Given the description of an element on the screen output the (x, y) to click on. 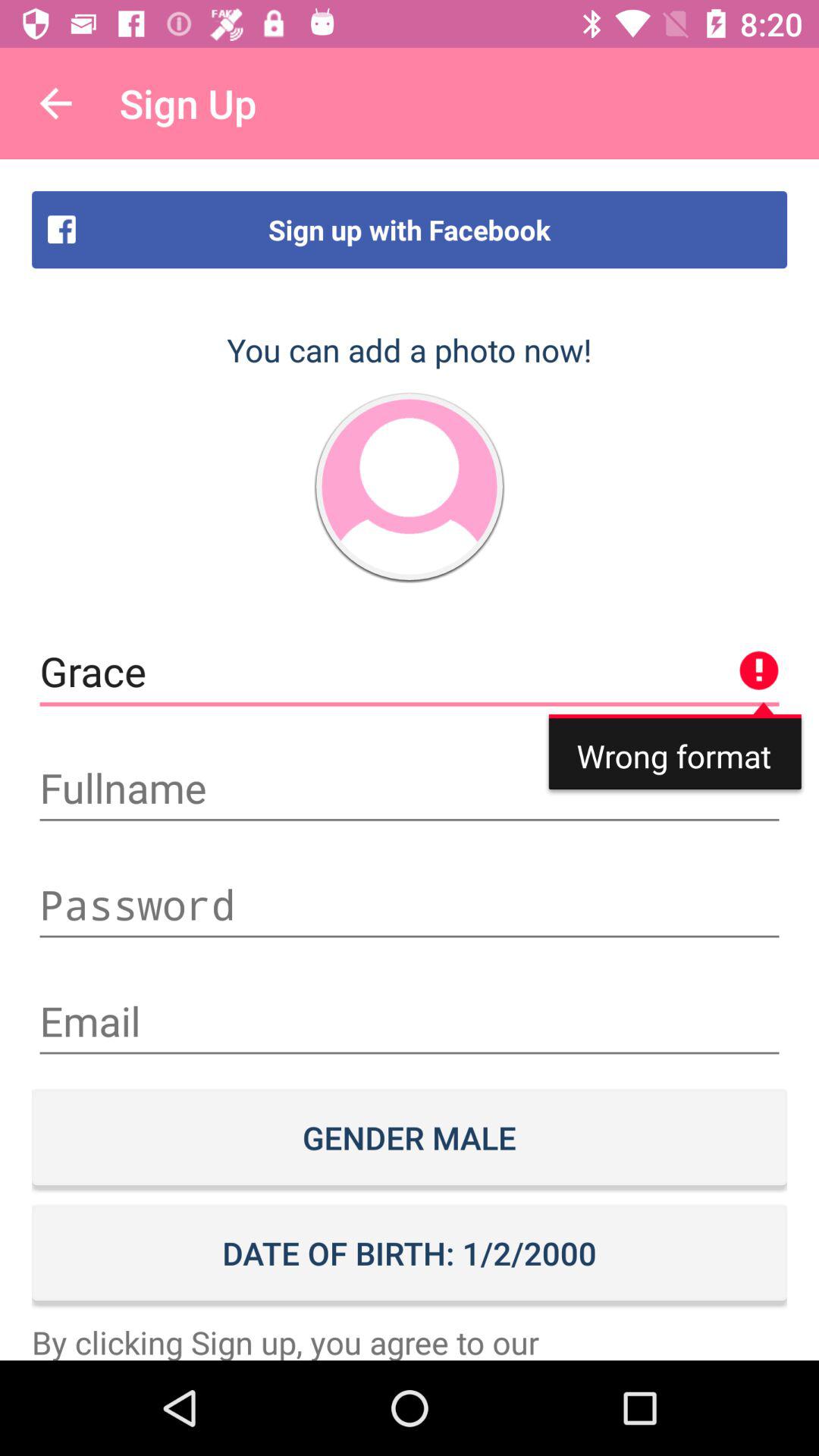
contact (409, 487)
